Given the description of an element on the screen output the (x, y) to click on. 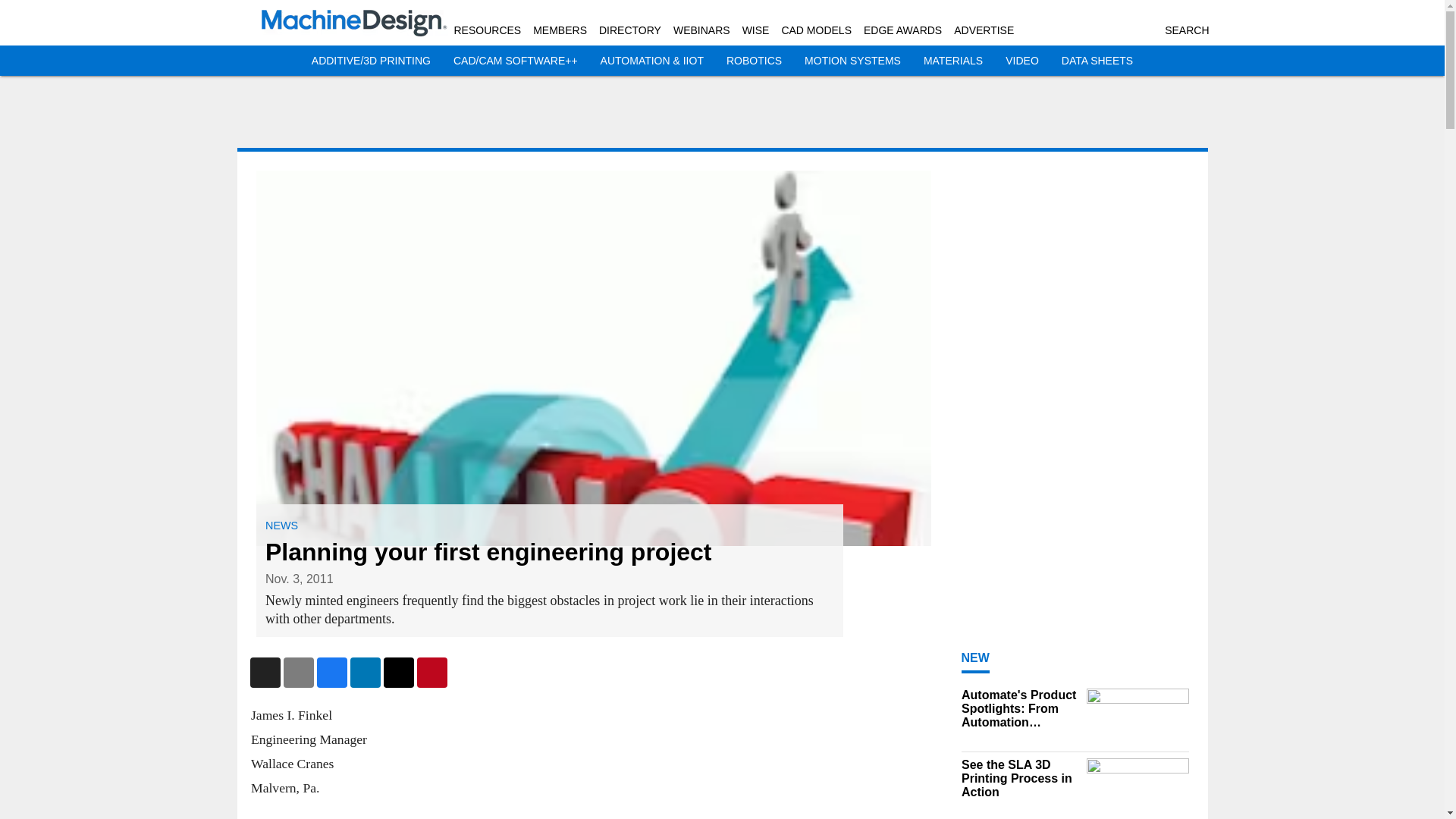
WEBINARS (701, 30)
WISE (756, 30)
MOTION SYSTEMS (853, 60)
CAD MODELS (815, 30)
MEMBERS (559, 30)
EDGE AWARDS (902, 30)
DATA SHEETS (1096, 60)
DIRECTORY (629, 30)
NEWS (281, 525)
VIDEO (1022, 60)
MATERIALS (952, 60)
ADVERTISE (983, 30)
ROBOTICS (753, 60)
SEARCH (1186, 30)
